Given the description of an element on the screen output the (x, y) to click on. 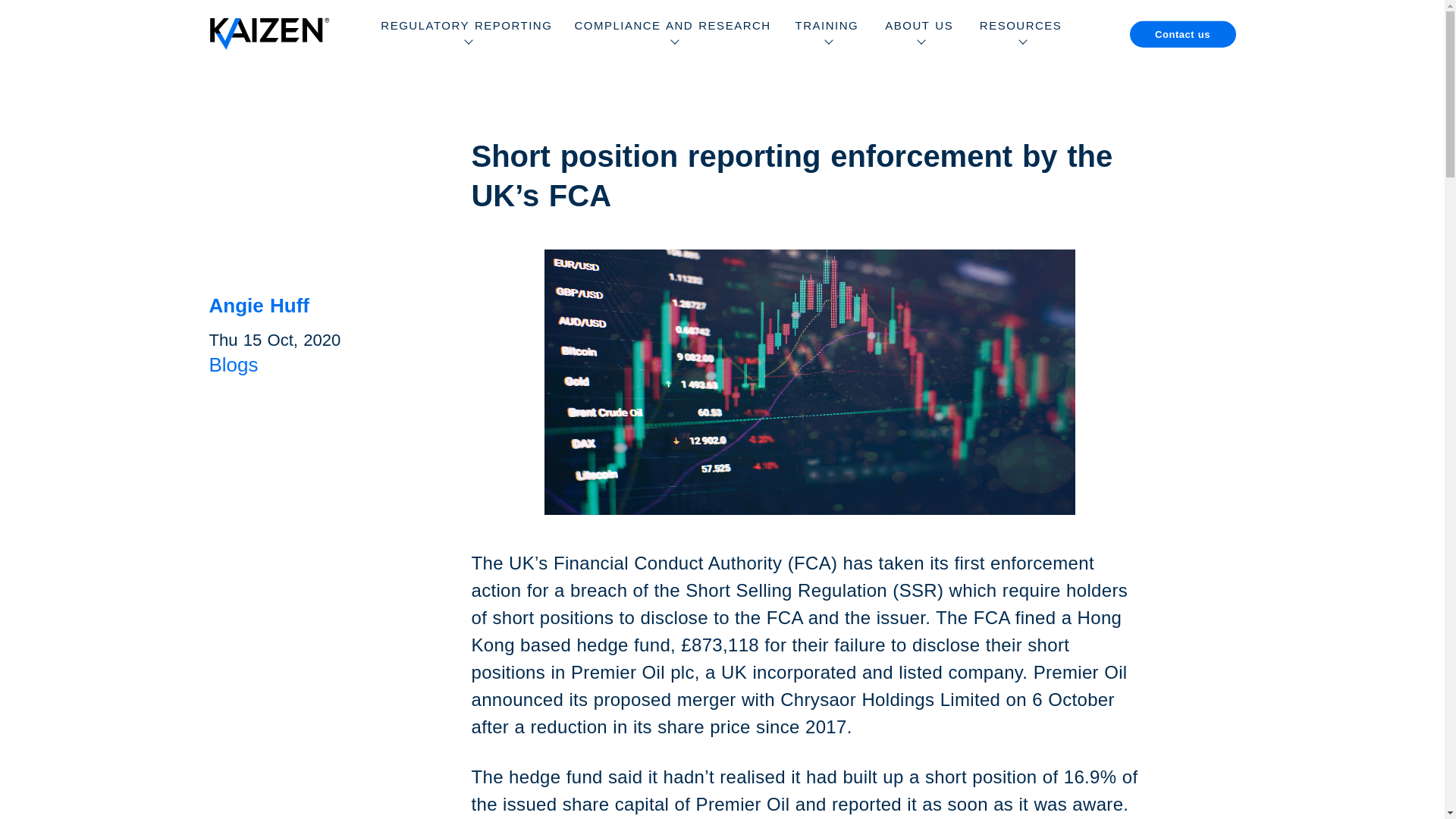
COMPLIANCE AND RESEARCH (672, 33)
ABOUT US (919, 33)
REGULATORY REPORTING (465, 33)
TRAINING (826, 33)
